Given the description of an element on the screen output the (x, y) to click on. 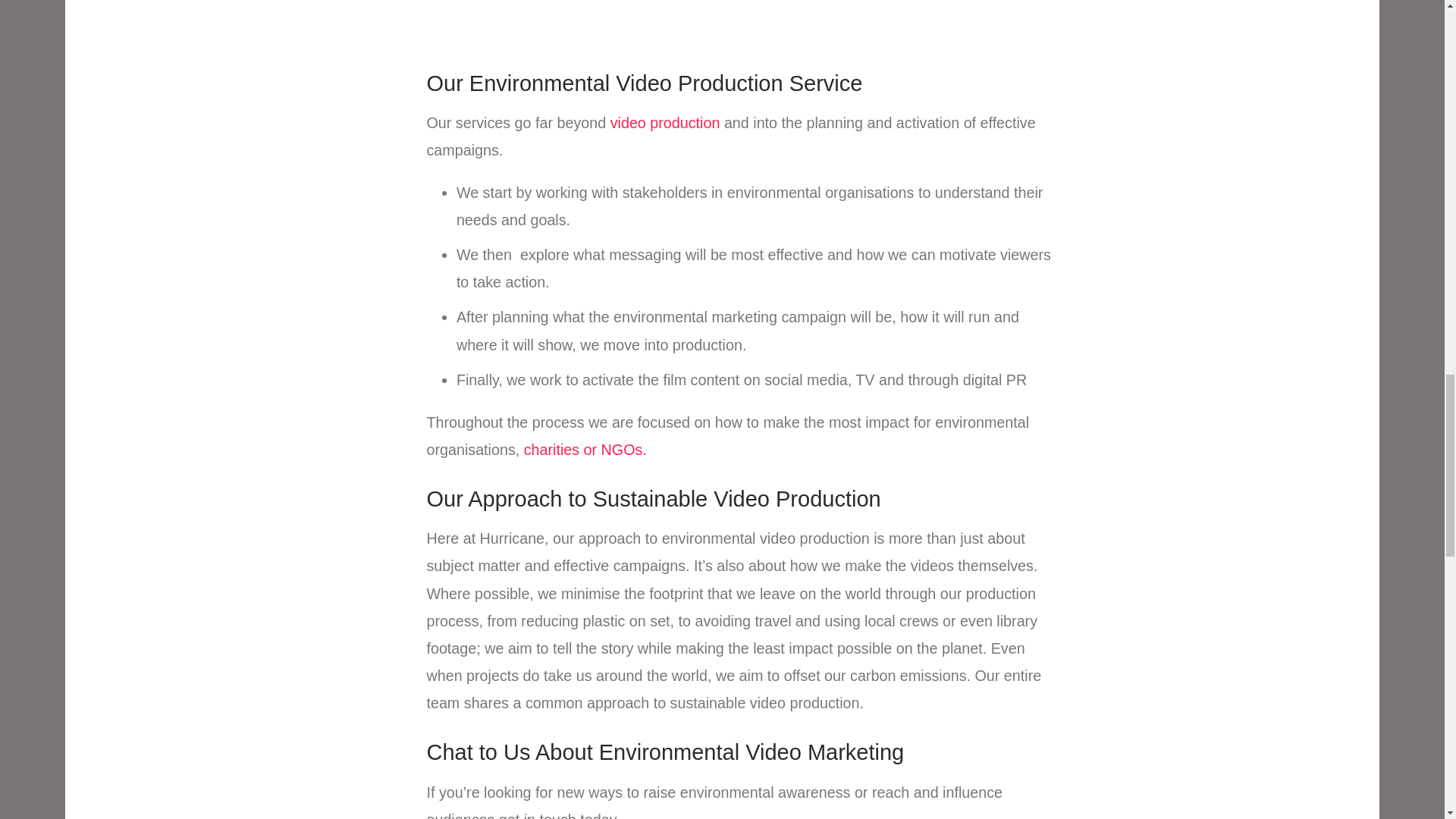
charities or NGOs. (585, 449)
video production (665, 122)
